Given the description of an element on the screen output the (x, y) to click on. 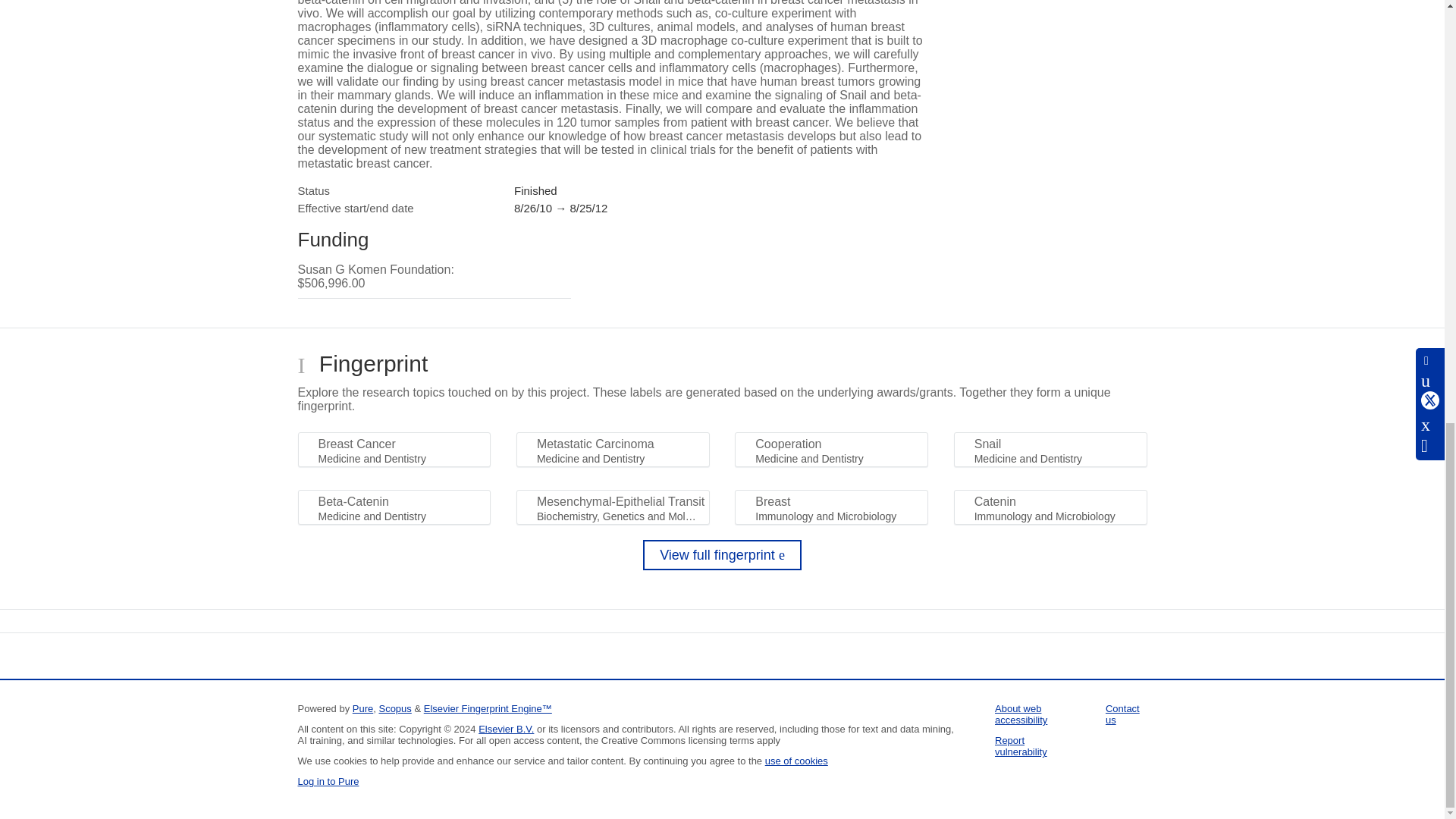
Pure (362, 708)
View full fingerprint (722, 554)
Log in to Pure (327, 781)
use of cookies (796, 760)
Elsevier B.V. (506, 728)
Scopus (394, 708)
